Given the description of an element on the screen output the (x, y) to click on. 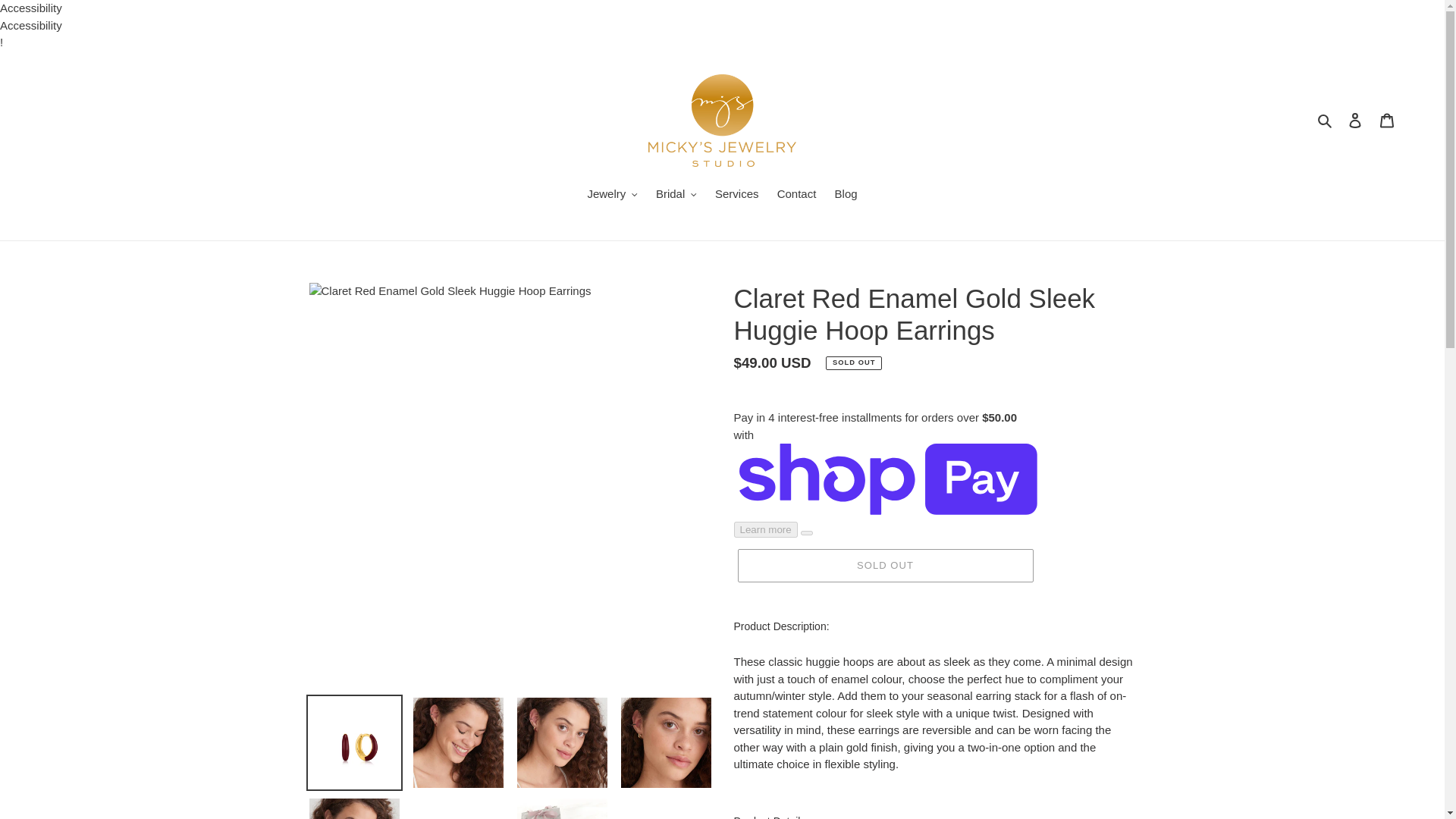
Search (1326, 119)
Log in (1355, 120)
Cart (1387, 120)
